Given the description of an element on the screen output the (x, y) to click on. 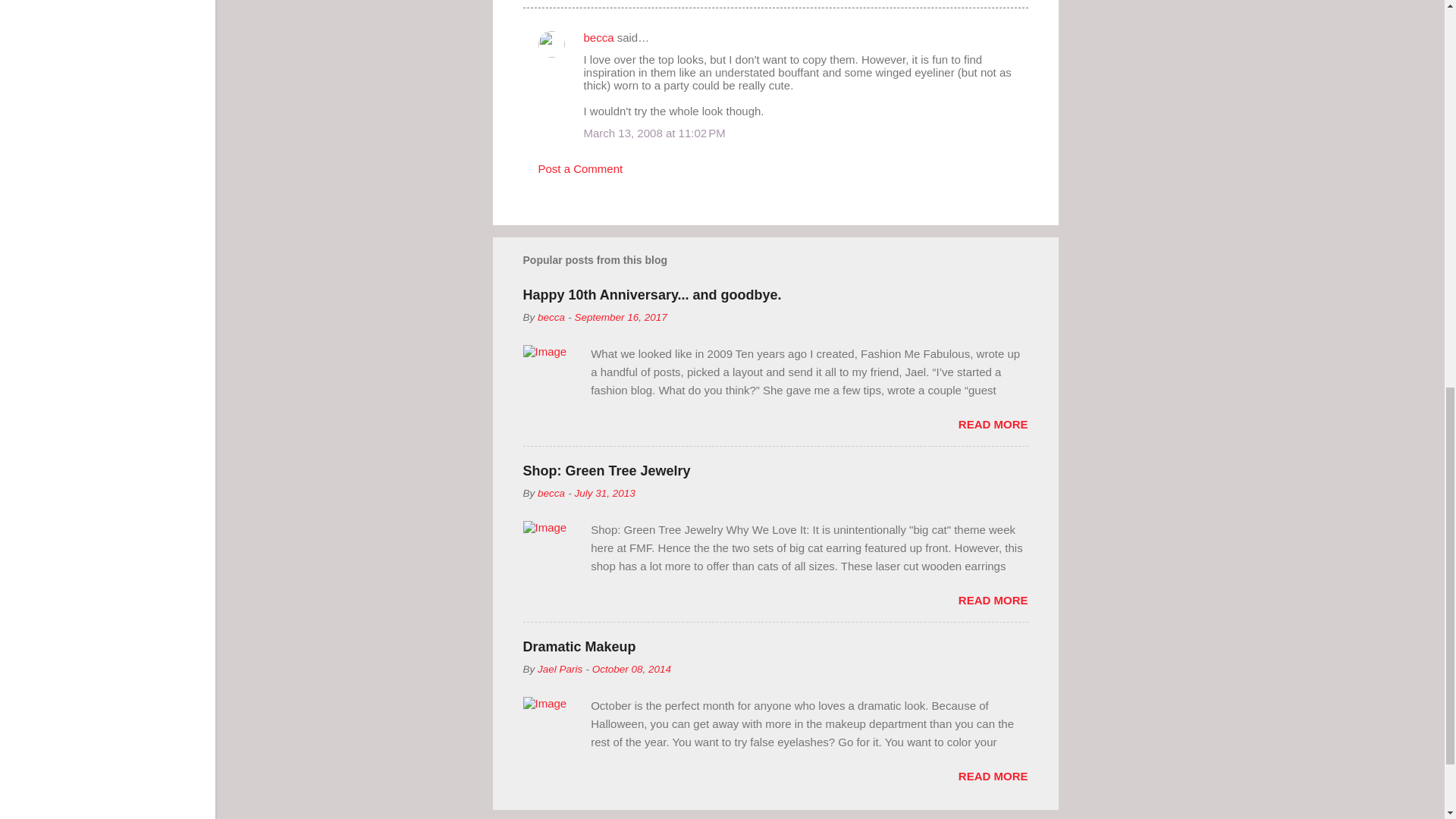
READ MORE (992, 423)
Dramatic Makeup (579, 646)
Jael Paris (559, 668)
READ MORE (992, 599)
becca (598, 37)
July 31, 2013 (603, 492)
Post a Comment (580, 168)
October 08, 2014 (631, 668)
becca (550, 492)
becca (550, 317)
READ MORE (992, 775)
September 16, 2017 (619, 317)
Shop: Green Tree Jewelry (606, 470)
Happy 10th Anniversary... and goodbye. (651, 294)
